Given the description of an element on the screen output the (x, y) to click on. 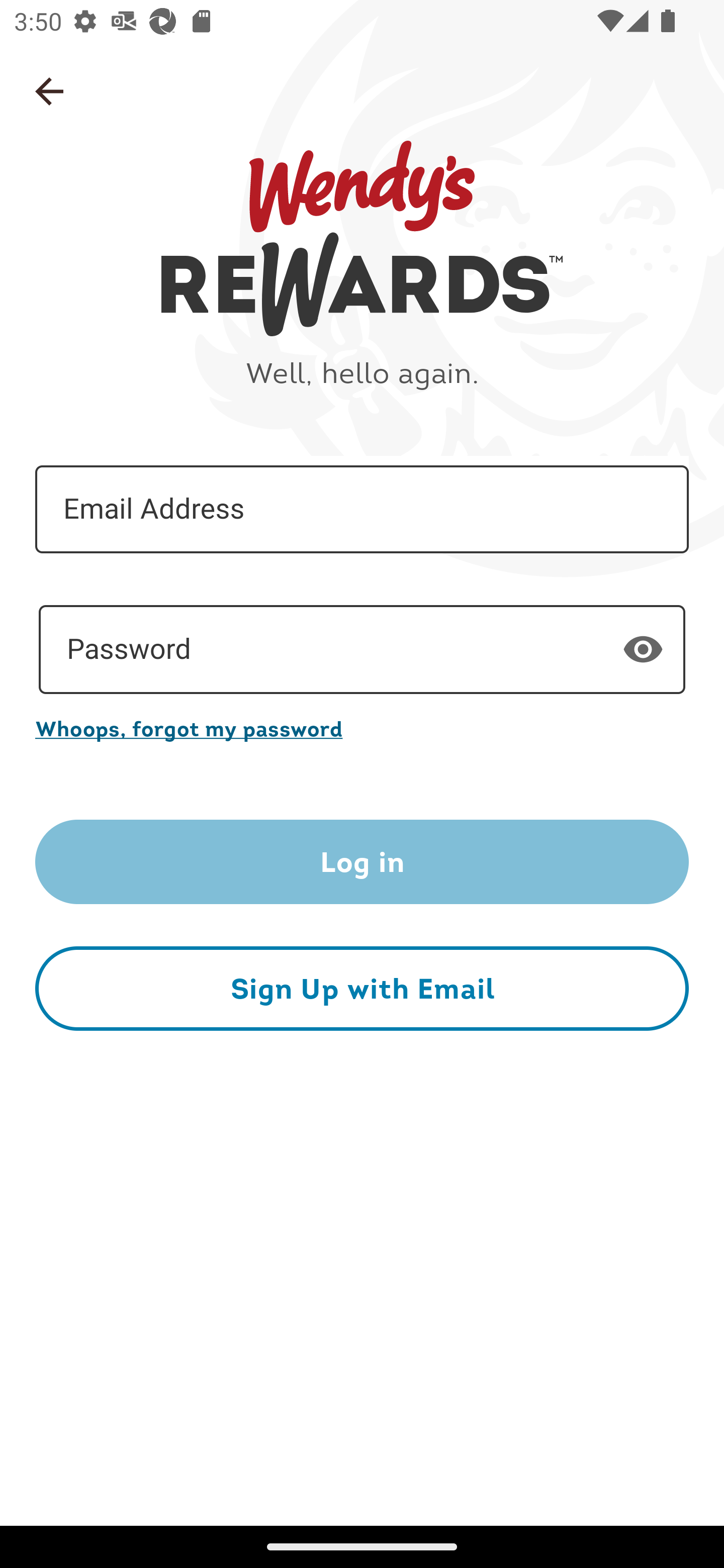
Navigate up (49, 91)
Email Address (361, 509)
Password (361, 649)
Show password (642, 648)
Whoops, forgot my password (361, 728)
Log in (361, 862)
Sign Up with Email (361, 988)
